Given the description of an element on the screen output the (x, y) to click on. 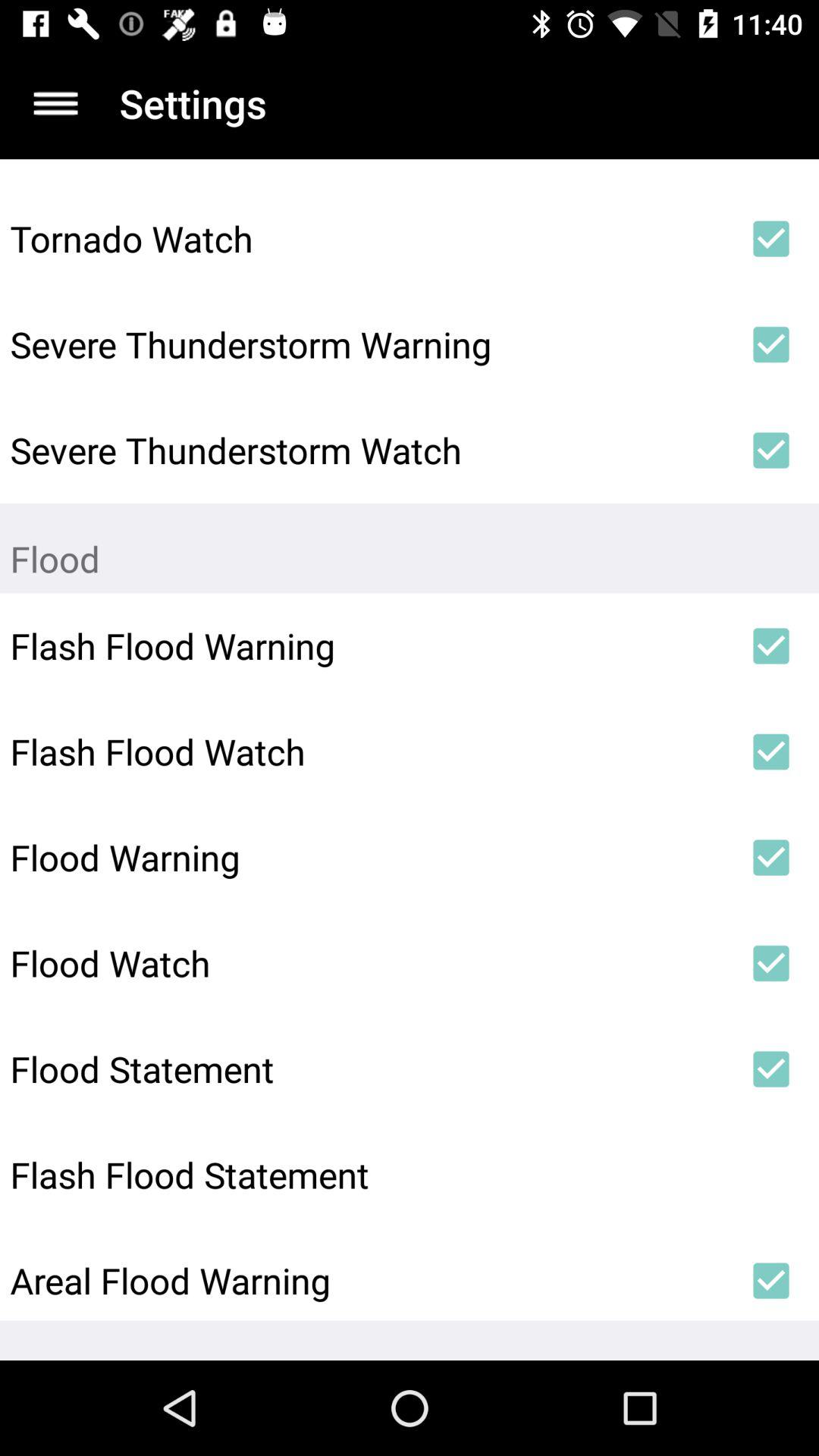
turn off the icon next to flood warning item (771, 857)
